Given the description of an element on the screen output the (x, y) to click on. 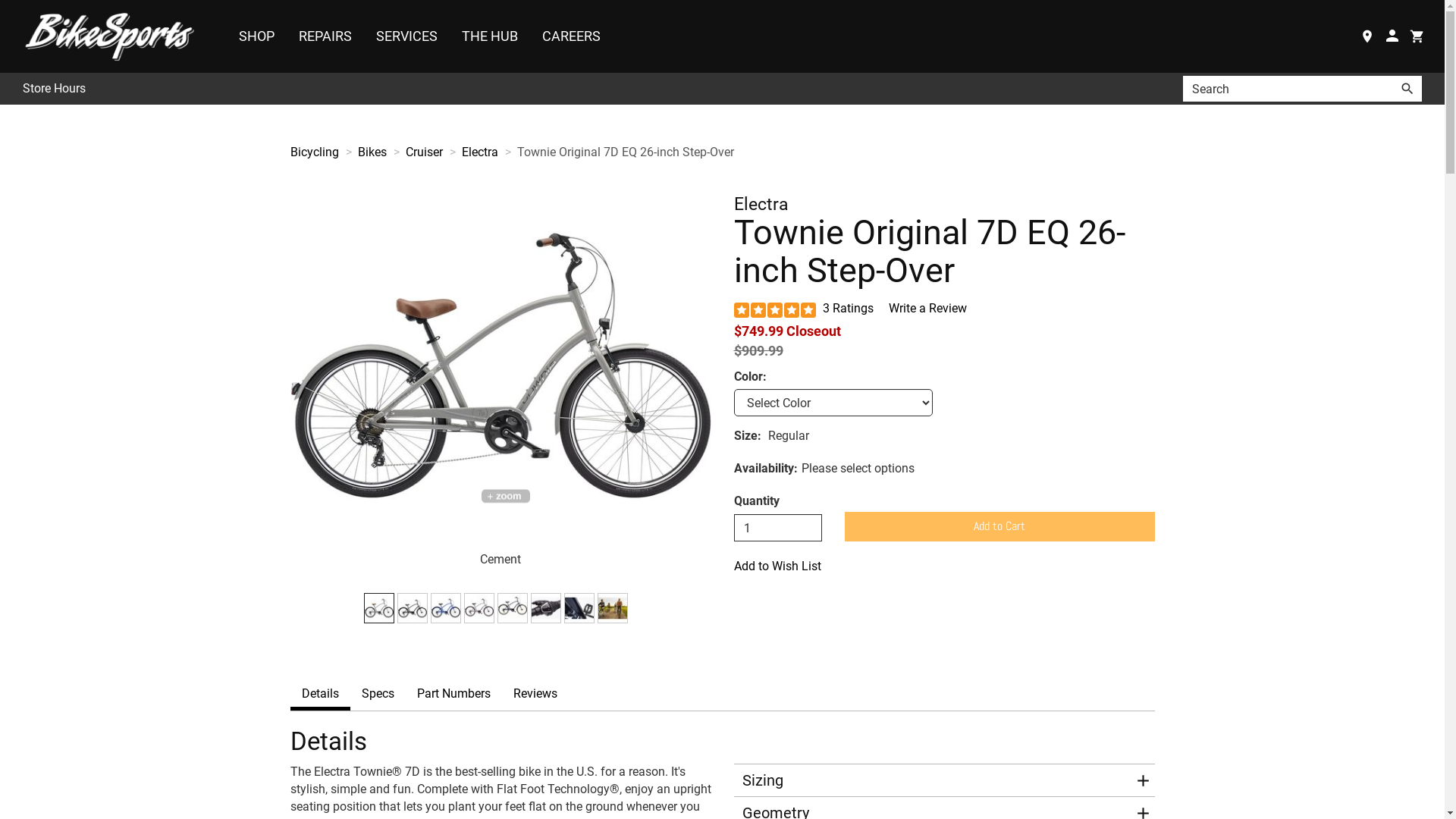
Bicycling Element type: text (313, 151)
Electra Element type: text (479, 151)
Electra Townie Original 7D EQ 26-inch Step-Over Cement Element type: hover (499, 364)
Stores Element type: text (1366, 36)
Color: Nickel Element type: hover (478, 607)
Search Element type: hover (1288, 88)
REPAIRS Element type: text (325, 36)
Color: Oxford Blue Element type: hover (512, 607)
Sizing Element type: text (933, 780)
SHOP Element type: text (256, 36)
Details Element type: text (319, 693)
THE HUB Element type: text (489, 36)
Search Element type: text (1407, 88)
Cruiser Element type: text (423, 151)
Color: Cement Element type: hover (378, 607)
CAREERS Element type: text (570, 36)
Add to Cart Element type: text (999, 526)
Bikes Element type: text (371, 151)
Part Numbers Element type: text (452, 693)
Write a Review Element type: text (927, 308)
Account Element type: text (1391, 36)
Reviews Element type: text (535, 693)
Specs Element type: text (377, 693)
Add to Wish List Element type: text (944, 566)
BikeSports Home Page Element type: hover (113, 36)
3 Ratings Element type: text (848, 308)
Color: Hyper Blue Element type: hover (445, 607)
Store Hours Element type: text (53, 88)
SERVICES Element type: text (406, 36)
Cart Element type: text (1416, 36)
Color: Matte Black Element type: hover (412, 607)
